Given the description of an element on the screen output the (x, y) to click on. 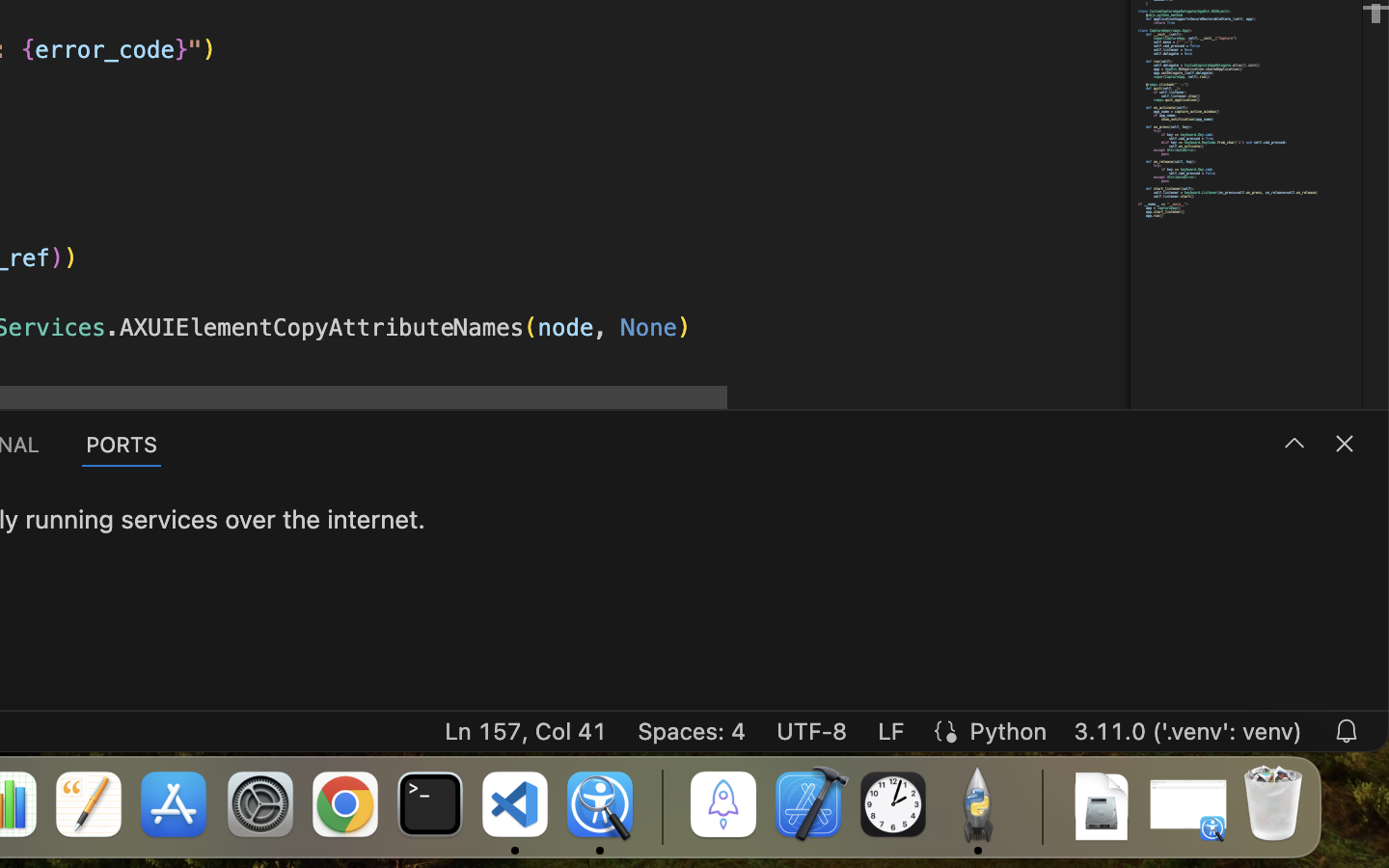
1 PORTS Element type: AXRadioButton (122, 443)
0.4285714328289032 Element type: AXDockItem (660, 805)
 Element type: AXButton (1344, 443)
 Element type: AXCheckBox (1294, 443)
